Given the description of an element on the screen output the (x, y) to click on. 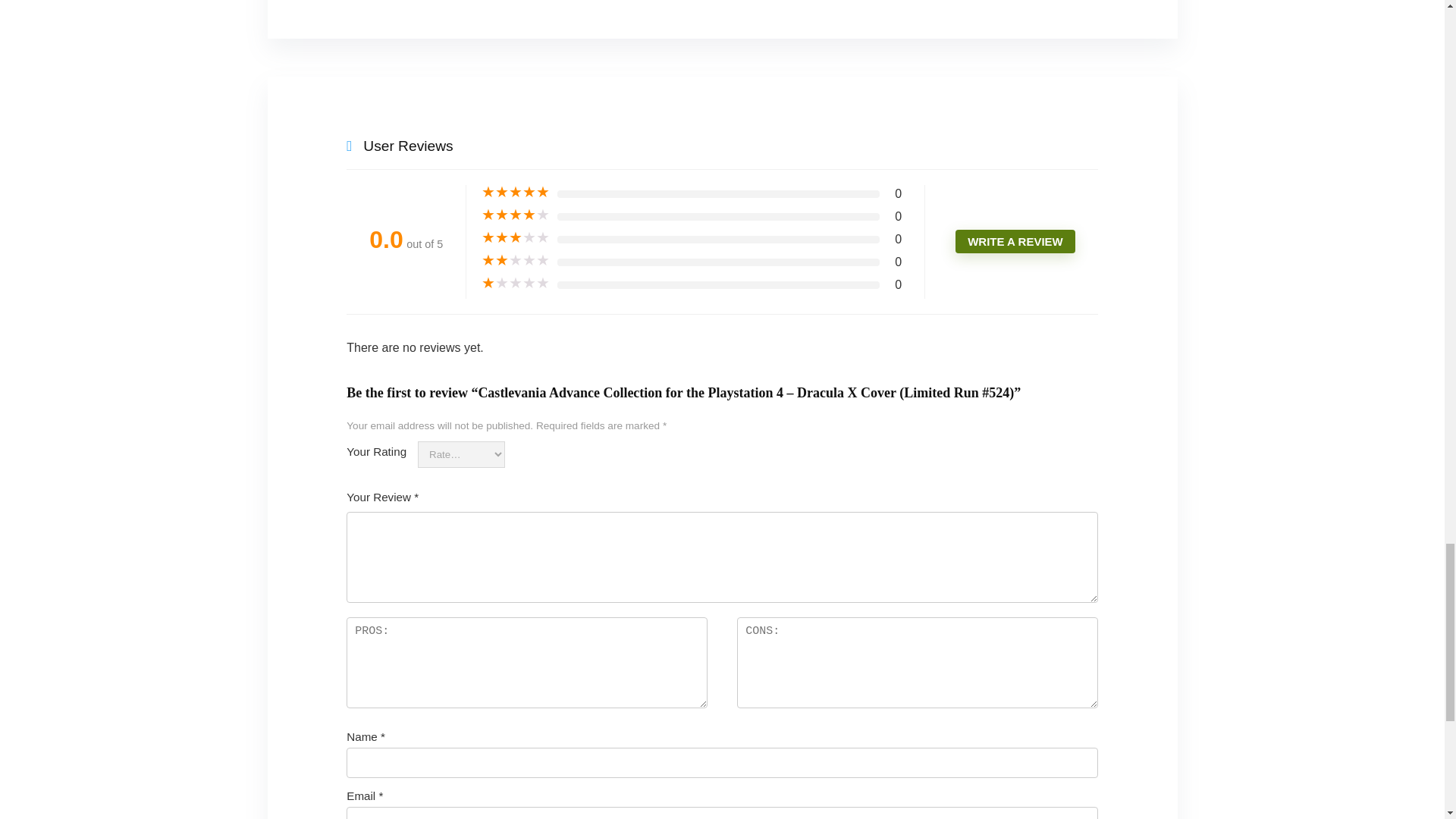
Rated 4 out of 5 (515, 215)
Rated 1 out of 5 (515, 283)
Rated 5 out of 5 (515, 192)
Rated 3 out of 5 (515, 237)
WRITE A REVIEW (1015, 241)
Rated 2 out of 5 (515, 260)
